Given the description of an element on the screen output the (x, y) to click on. 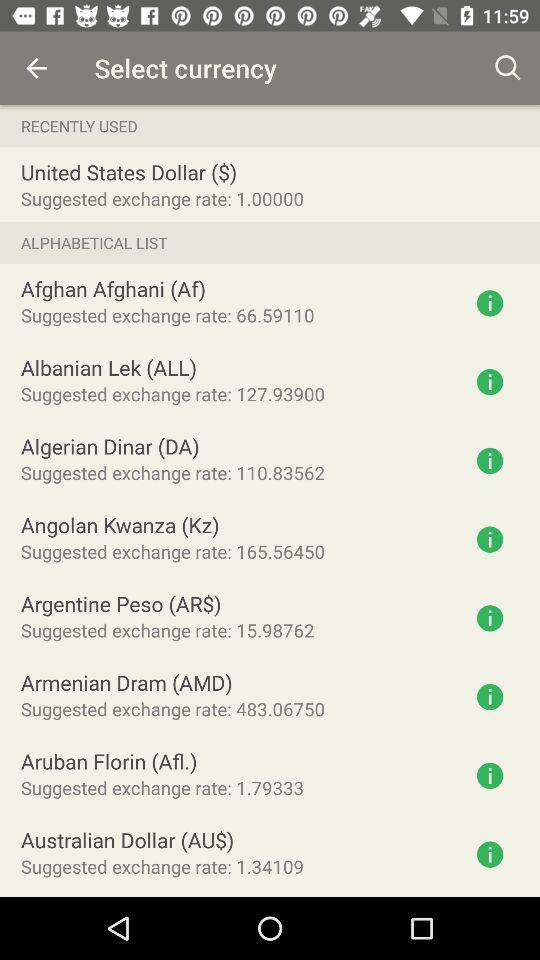
currency info (490, 382)
